Given the description of an element on the screen output the (x, y) to click on. 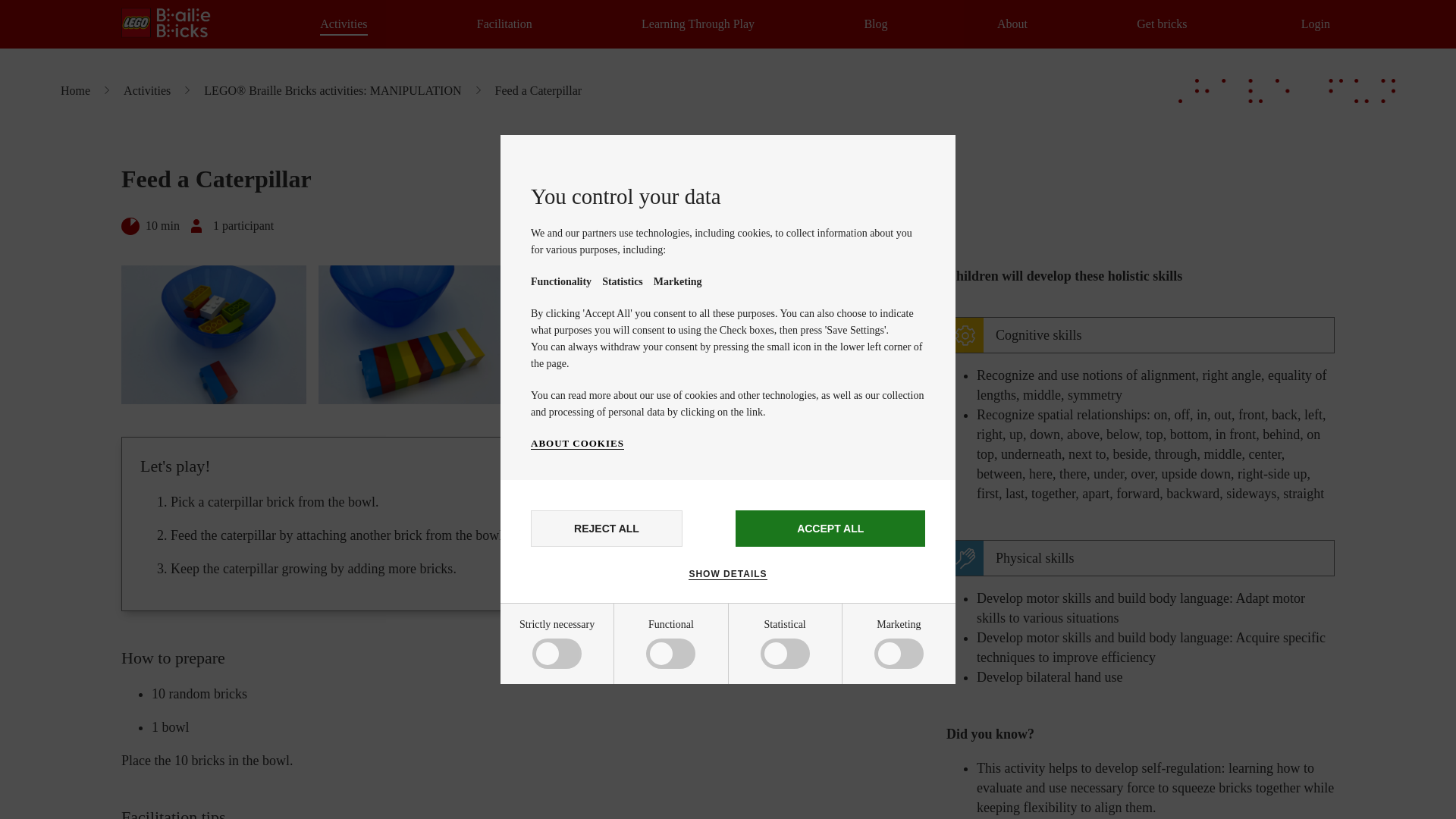
About (1012, 24)
Learning Through Play (698, 24)
Statistical (585, 766)
Activities (343, 24)
Functional (585, 714)
SHOW DETAILS (727, 573)
Blog (874, 24)
ABOUT COOKIES (577, 443)
ACCEPT ALL (829, 528)
Facilitation (504, 24)
Strictly necessary (585, 657)
Marketing (585, 809)
REJECT ALL (606, 528)
